Given the description of an element on the screen output the (x, y) to click on. 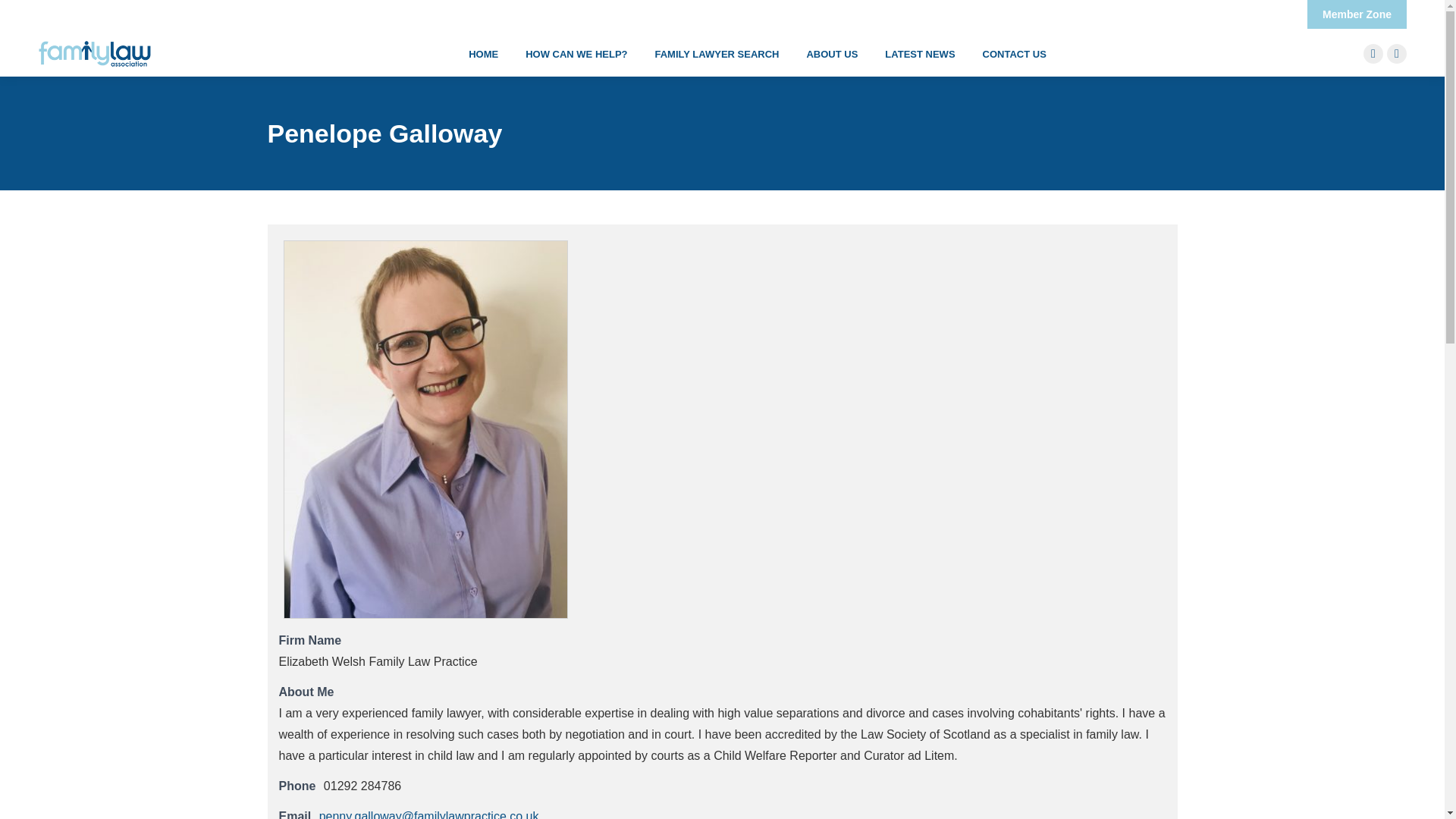
FAMILY LAWYER SEARCH (717, 54)
Member Zone (1356, 14)
Linkedin page opens in new window (1396, 53)
Twitter page opens in new window (1372, 53)
HOW CAN WE HELP? (576, 54)
HOME (482, 54)
Penelope Galloway (425, 429)
Twitter page opens in new window (1372, 53)
LATEST NEWS (920, 54)
Linkedin page opens in new window (1396, 53)
CONTACT US (1014, 54)
ABOUT US (831, 54)
